Given the description of an element on the screen output the (x, y) to click on. 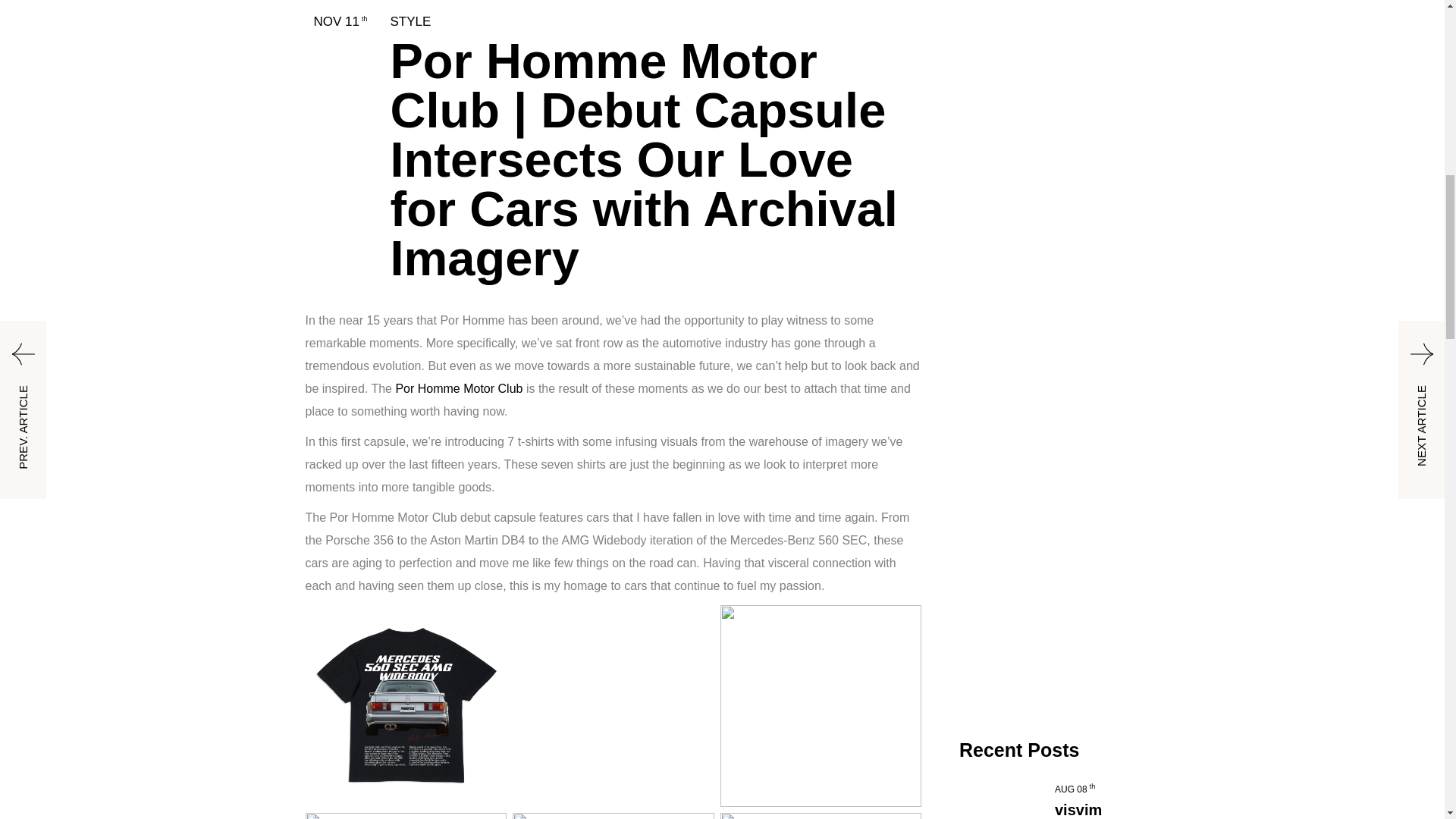
Por Homme Motor Club (458, 388)
STYLE (410, 20)
NOV 11th (341, 20)
AUG 08th (1074, 788)
visvim Releases A Rustic-Inspired Collection For FW24 (1094, 810)
